Given the description of an element on the screen output the (x, y) to click on. 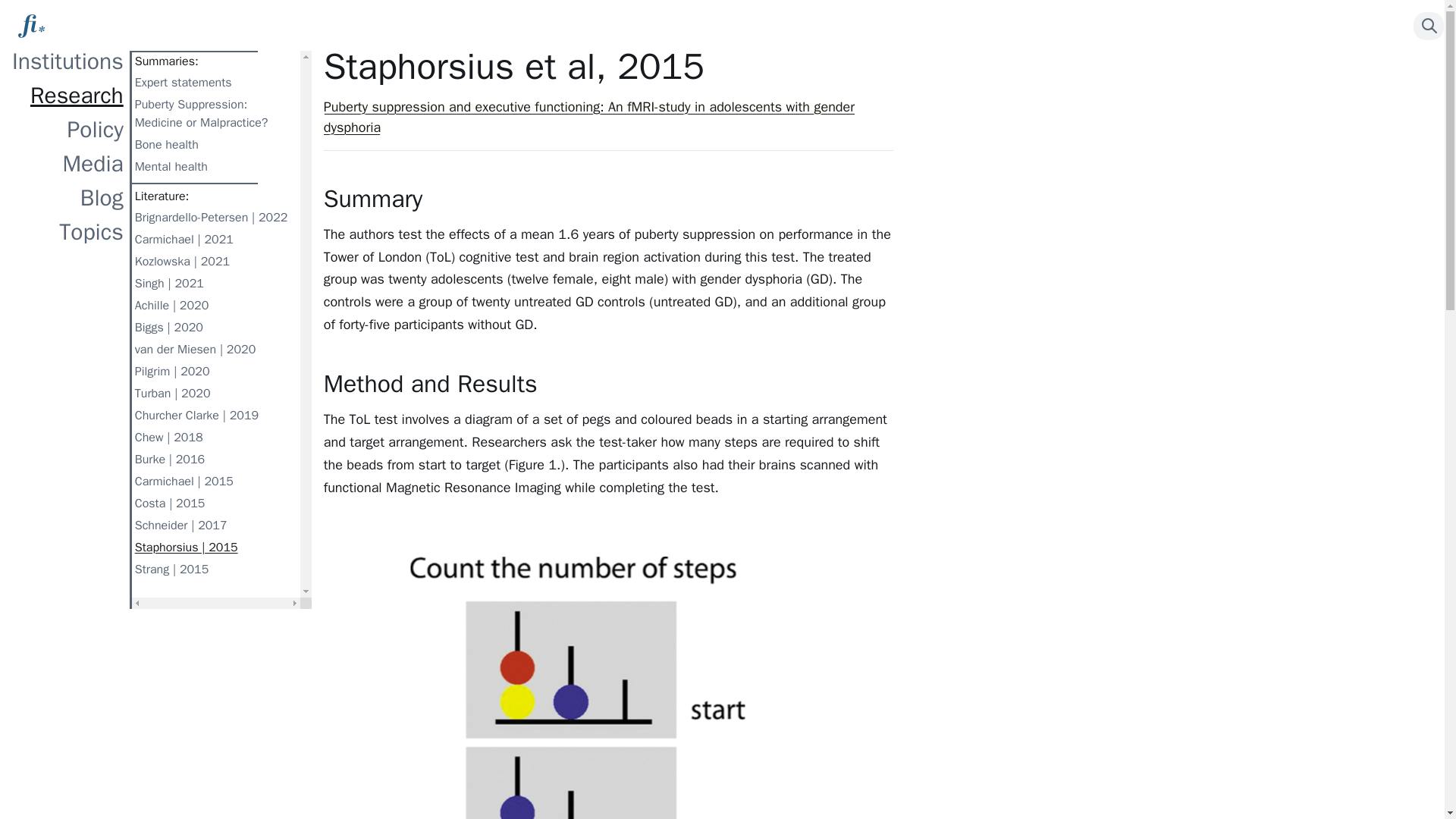
Mental health (215, 167)
Topics (70, 232)
Blog (70, 197)
Bone health (215, 144)
Expert statements (215, 82)
Research (70, 95)
Press (1428, 26)
Policy (70, 130)
Puberty Suppression: Medicine or Malpractice? (215, 113)
